Given the description of an element on the screen output the (x, y) to click on. 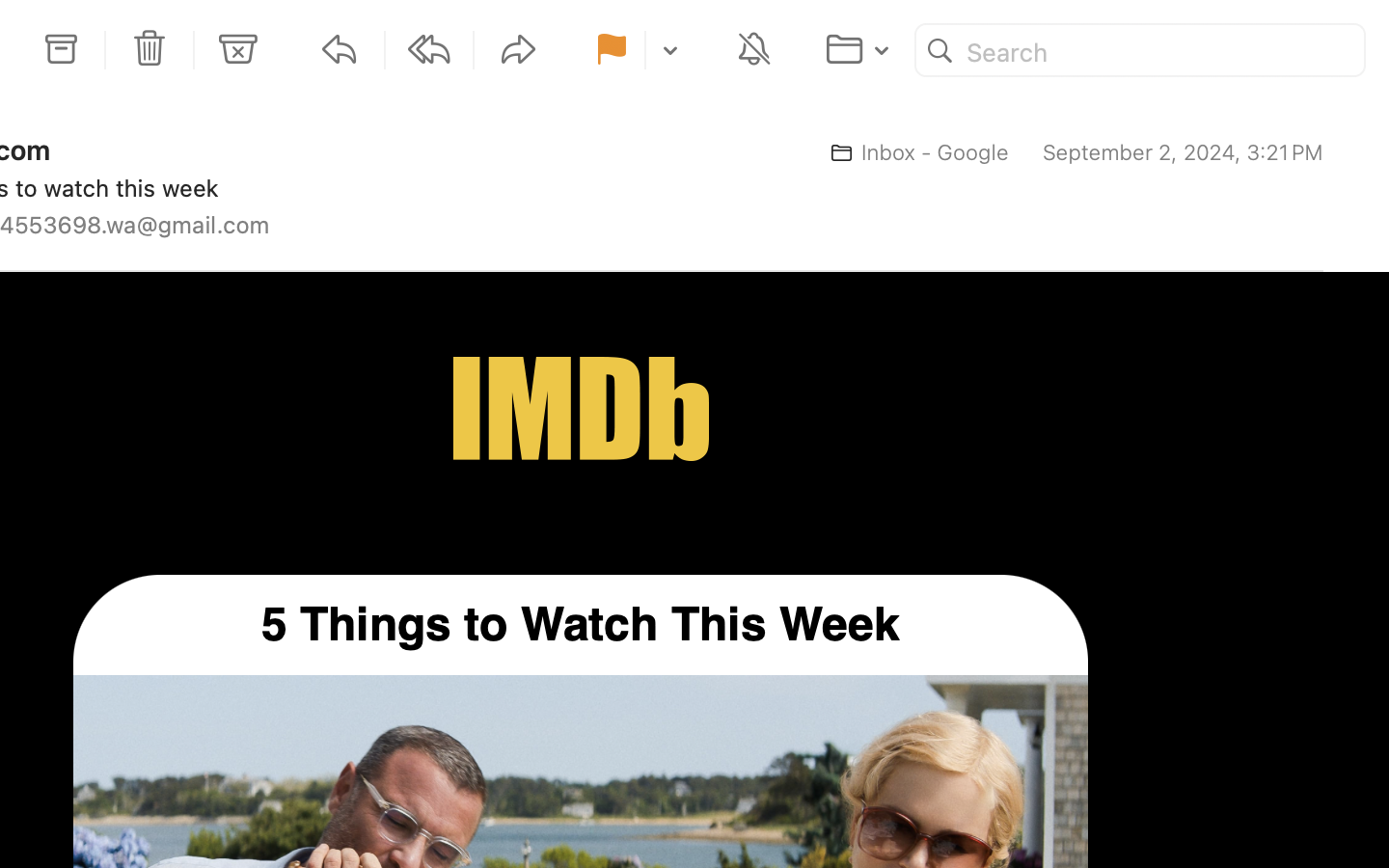
September 2, 2024, 3:21 PM Element type: AXStaticText (1181, 151)
0.0 Element type: AXValueIndicator (1377, 262)
5 Things to Watch This Week Element type: AXStaticText (580, 624)
￼Inbox - Google Element type: AXStaticText (912, 151)
